Given the description of an element on the screen output the (x, y) to click on. 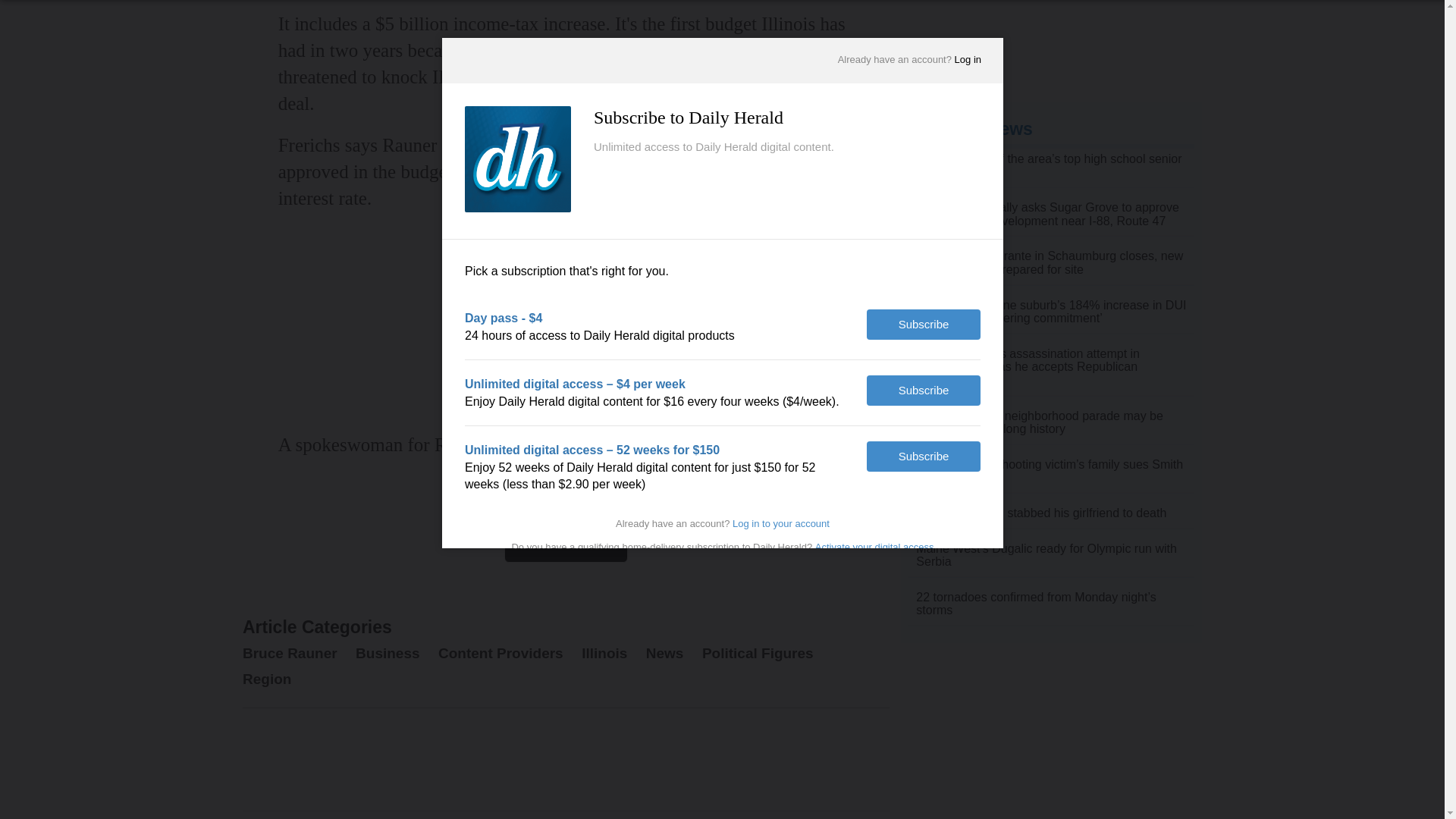
3rd party ad content (1051, 32)
